Given the description of an element on the screen output the (x, y) to click on. 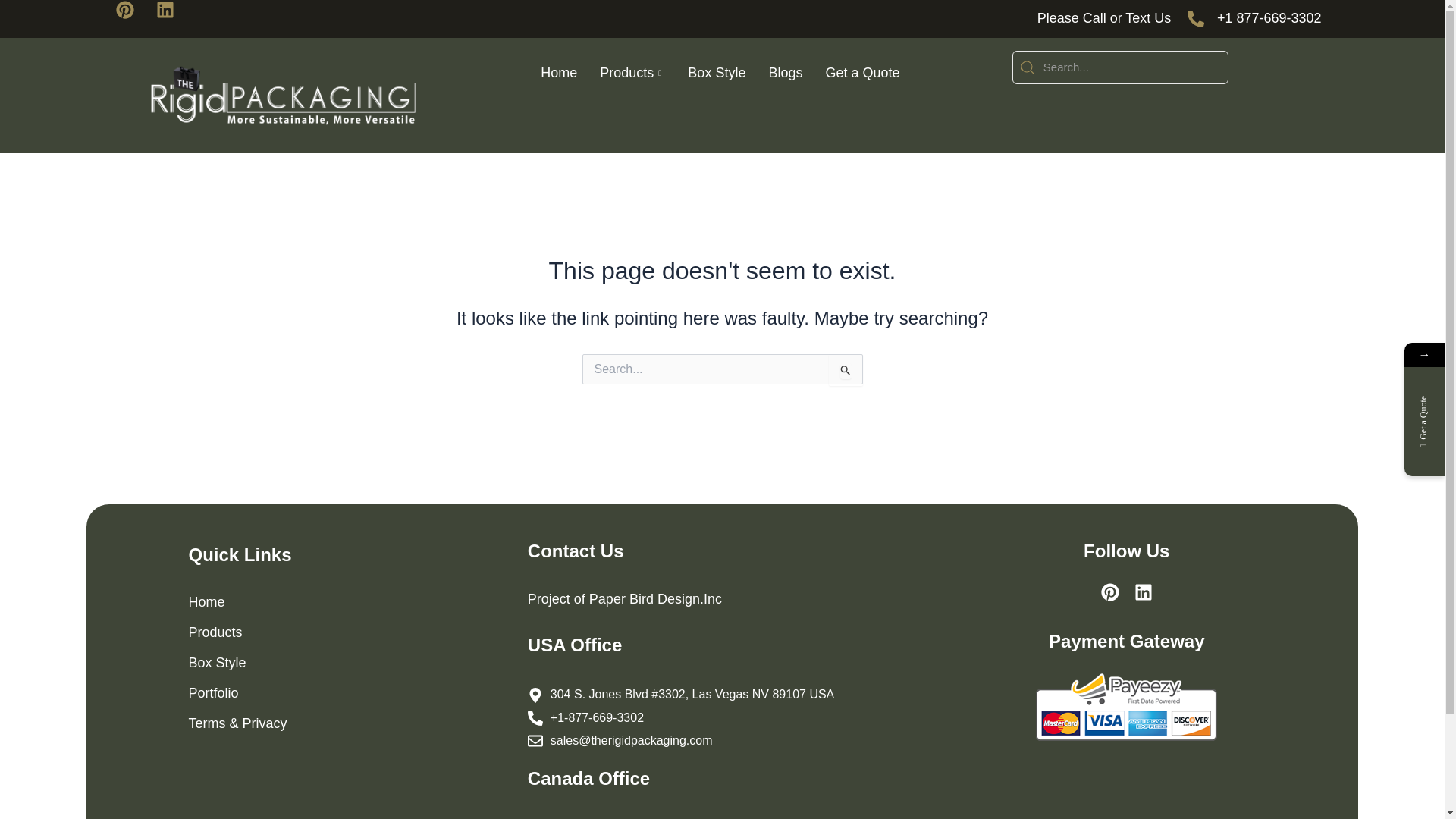
Pinterest (133, 18)
Search (844, 369)
Search (1119, 67)
Search (844, 369)
Products (632, 73)
Home (558, 73)
Linkedin (173, 18)
